Given the description of an element on the screen output the (x, y) to click on. 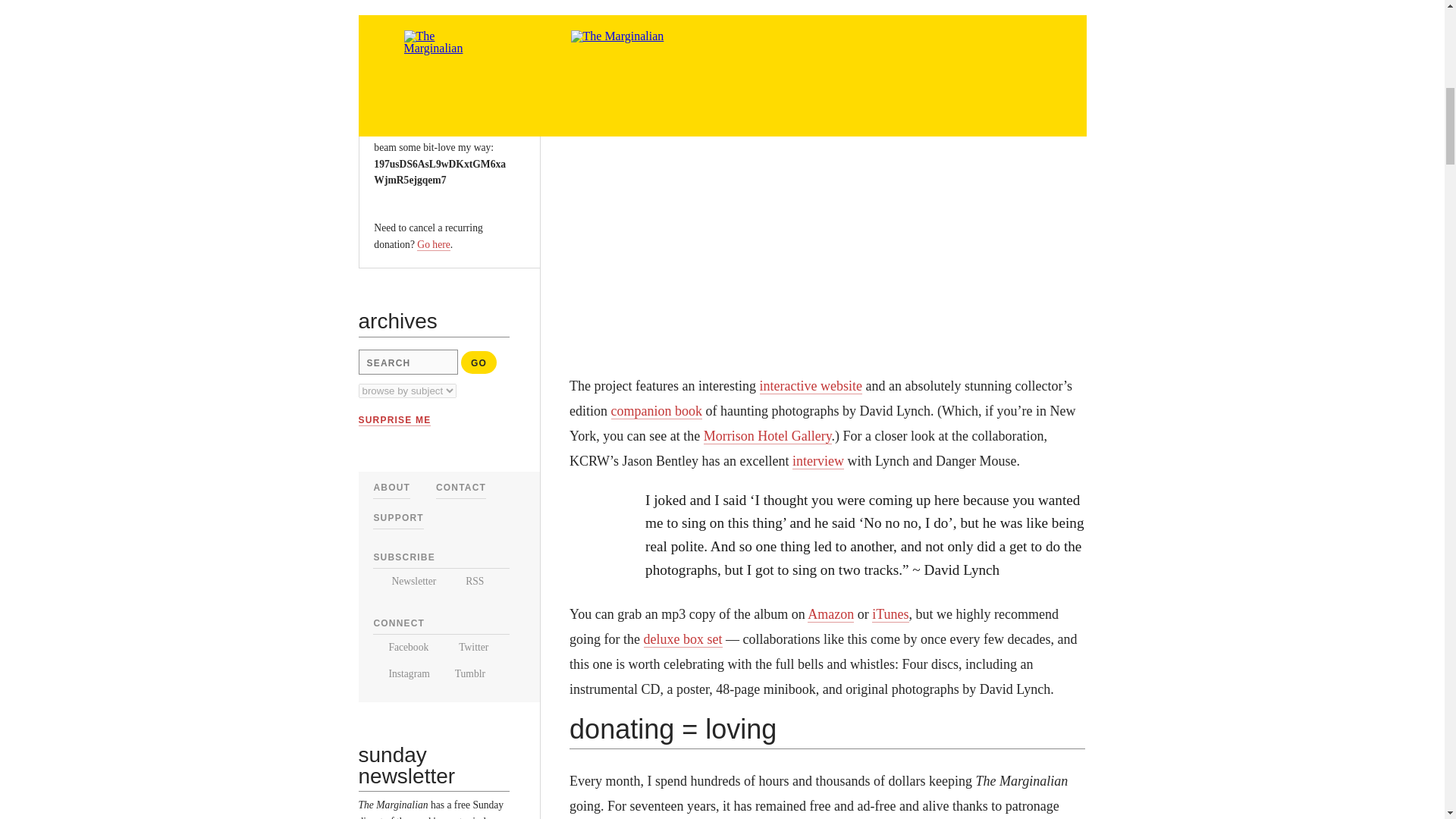
Twitter (464, 646)
CONTACT (460, 487)
GIVE NOW (410, 53)
Go here (432, 244)
Tumblr (464, 673)
Newsletter (403, 581)
SURPRISE ME (394, 419)
ABOUT (391, 487)
Instagram (400, 673)
Go (478, 362)
RSS (466, 581)
Facebook (400, 646)
SUPPORT (397, 517)
Go (478, 362)
